Given the description of an element on the screen output the (x, y) to click on. 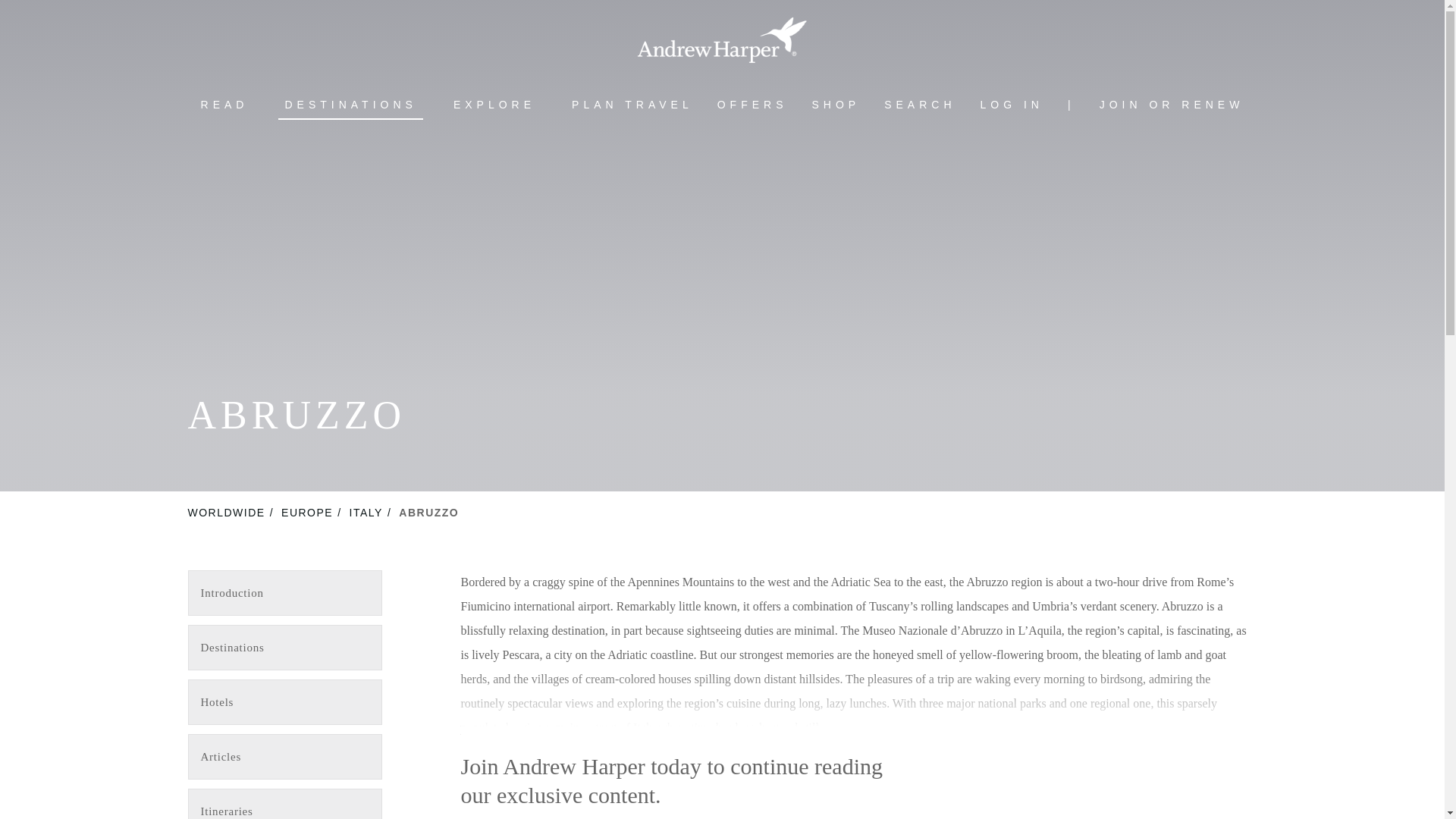
DESTINATIONS (350, 104)
Destinations (350, 104)
READ (224, 104)
Read (224, 104)
